Given the description of an element on the screen output the (x, y) to click on. 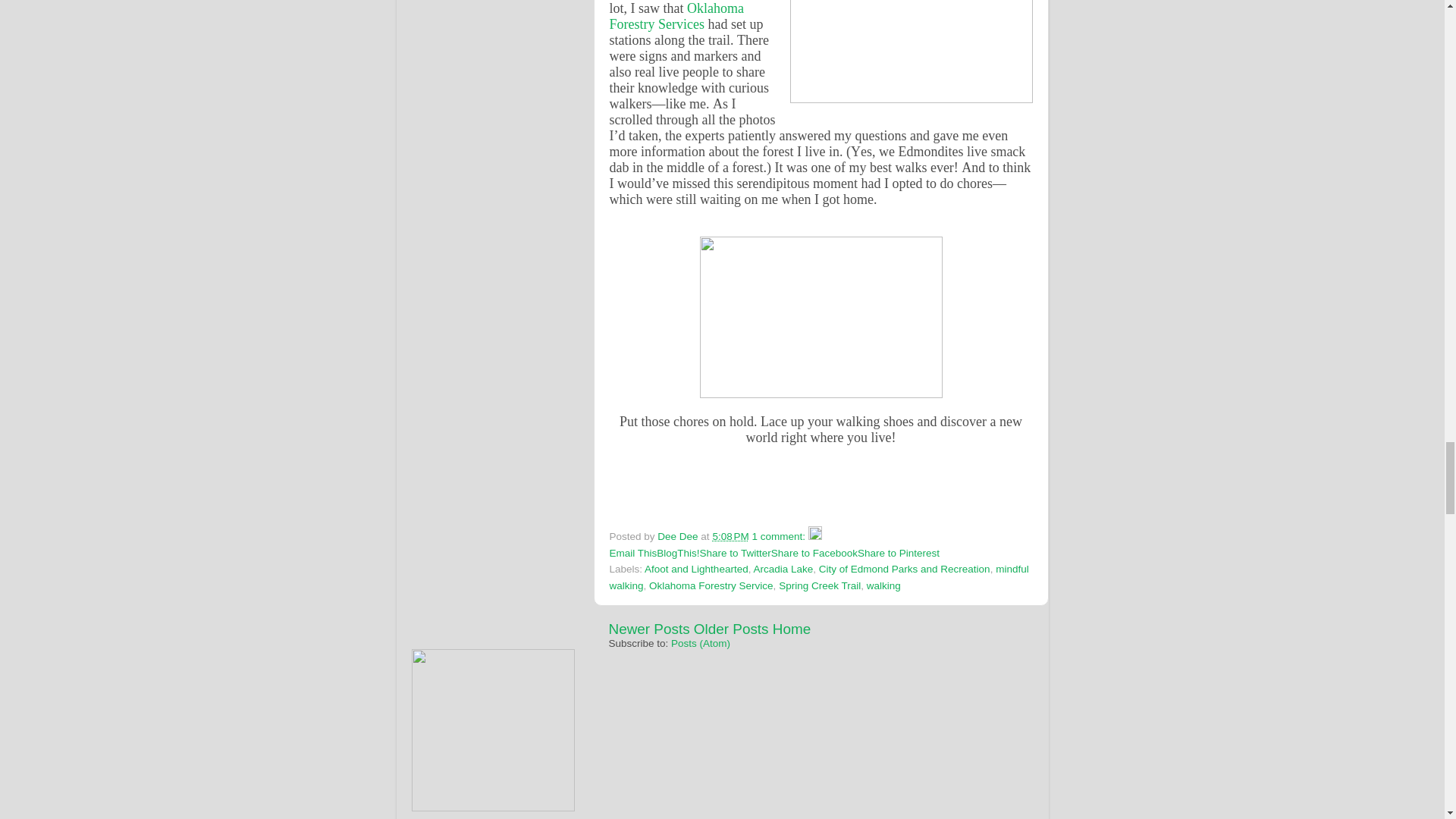
author profile (679, 536)
Share to Facebook (814, 552)
permanent link (729, 536)
Edit Post (815, 536)
Email This (634, 552)
Share to Twitter (735, 552)
BlogThis! (677, 552)
